Given the description of an element on the screen output the (x, y) to click on. 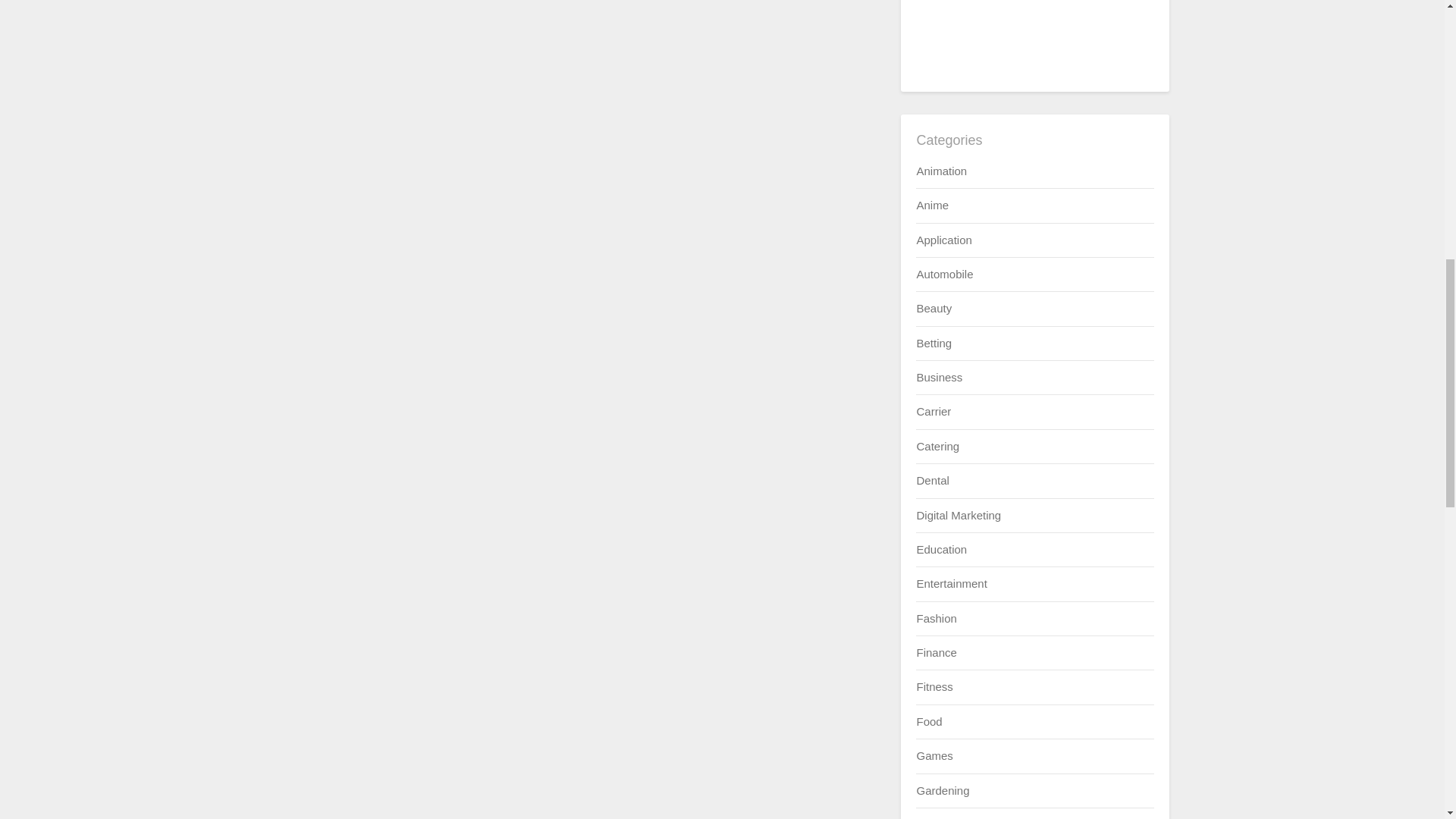
Games (933, 755)
Fitness (933, 686)
Catering (937, 445)
Betting (933, 342)
Fashion (935, 617)
Application (943, 239)
General (935, 818)
Carrier (932, 410)
Animation (940, 170)
Beauty (933, 308)
Food (928, 721)
Education (940, 549)
Entertainment (951, 583)
Dental (932, 480)
Gardening (942, 789)
